Given the description of an element on the screen output the (x, y) to click on. 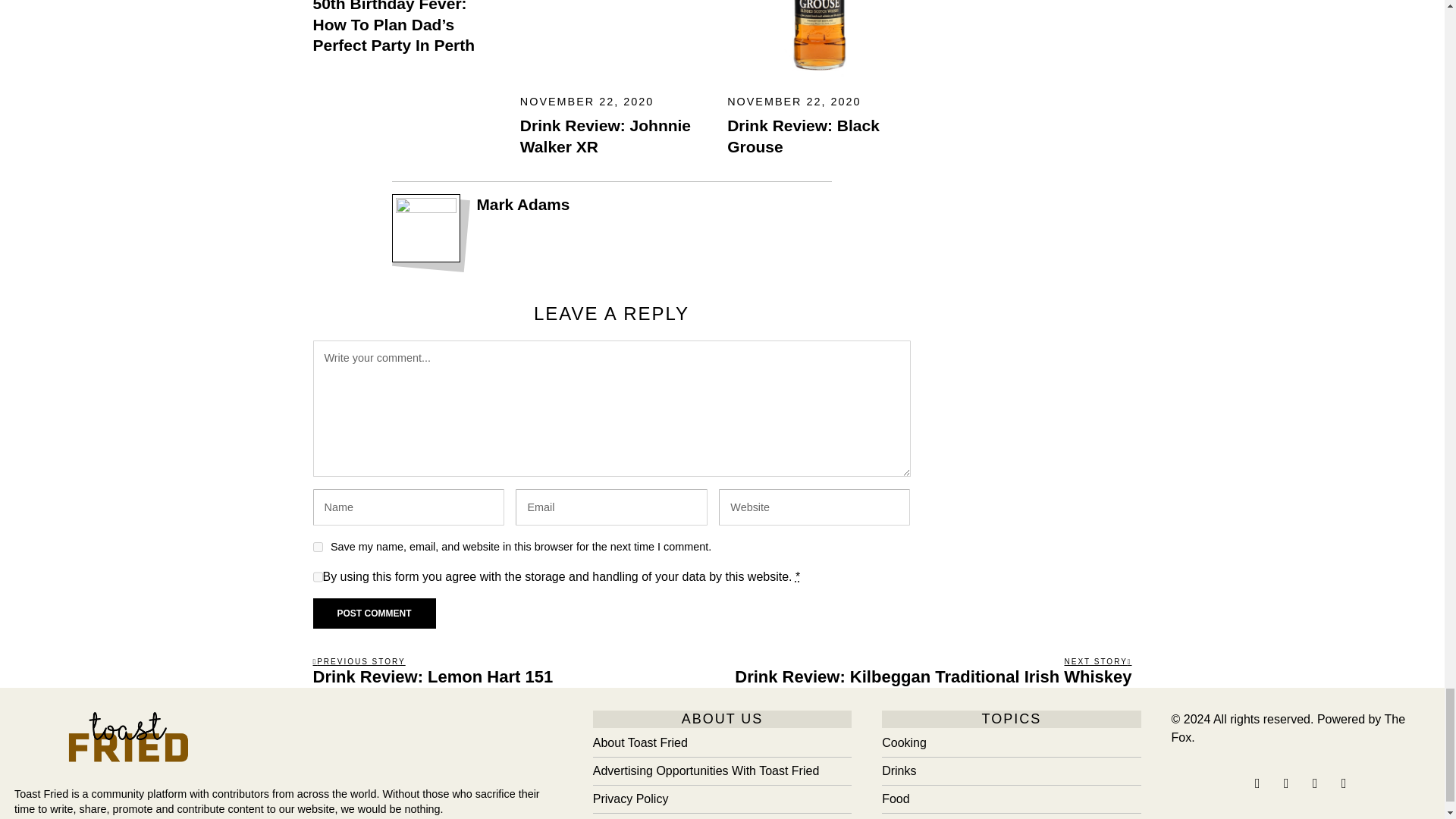
Post Comment (374, 613)
22 Nov, 2020 06:31:37 (793, 101)
22 Nov, 2020 06:50:52 (586, 101)
yes (317, 547)
